Given the description of an element on the screen output the (x, y) to click on. 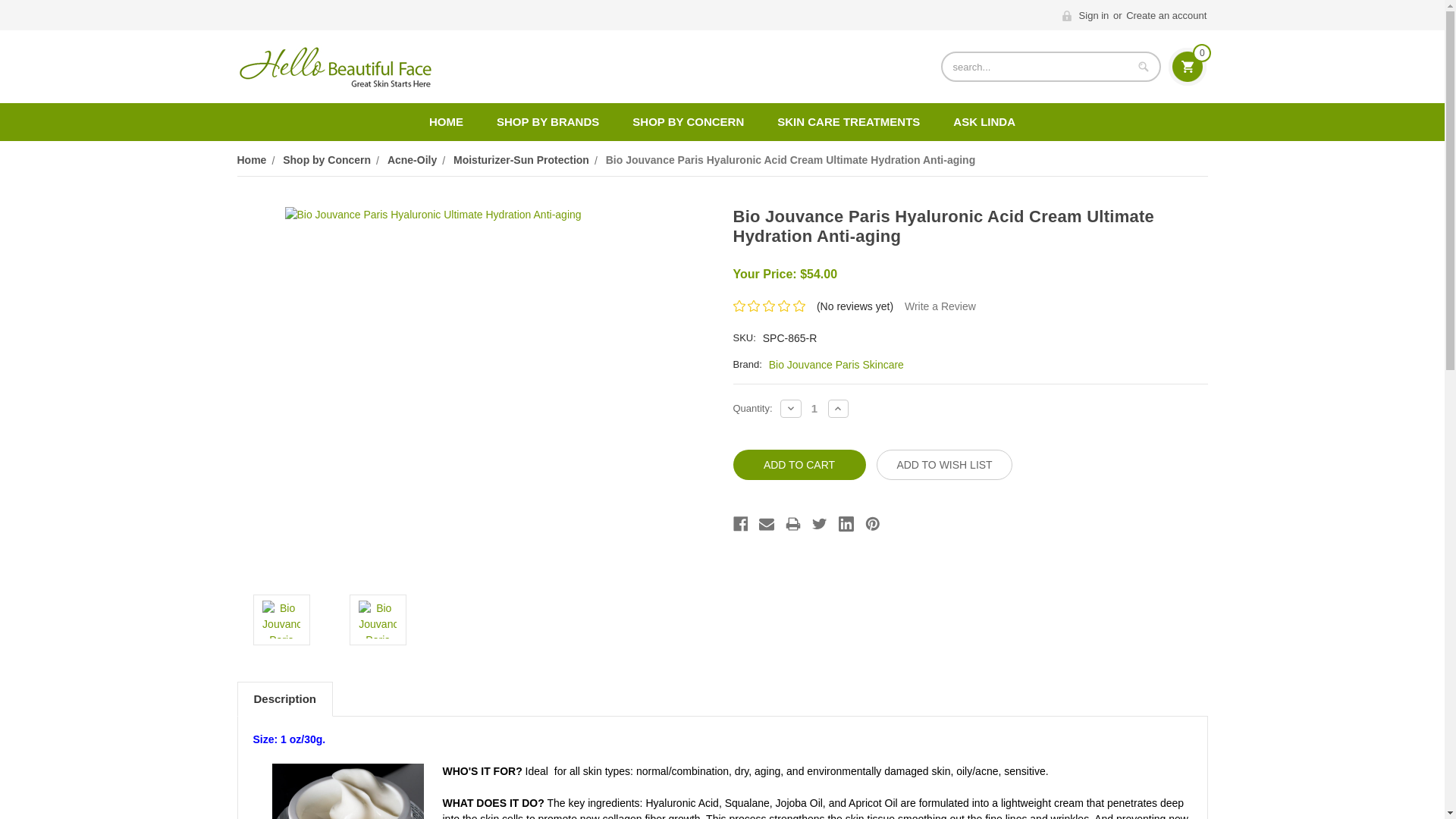
Add to Cart (798, 464)
hyaluronic-cream-jar.jpg (346, 791)
Sign in (1085, 15)
Bio Jouvance Paris Hyaluronic Ultimate Hydration Anti-aging (280, 619)
1 (813, 408)
0 (1188, 66)
HOME (446, 121)
Hello Beautiful Face (333, 66)
Create an account (1166, 15)
